Given the description of an element on the screen output the (x, y) to click on. 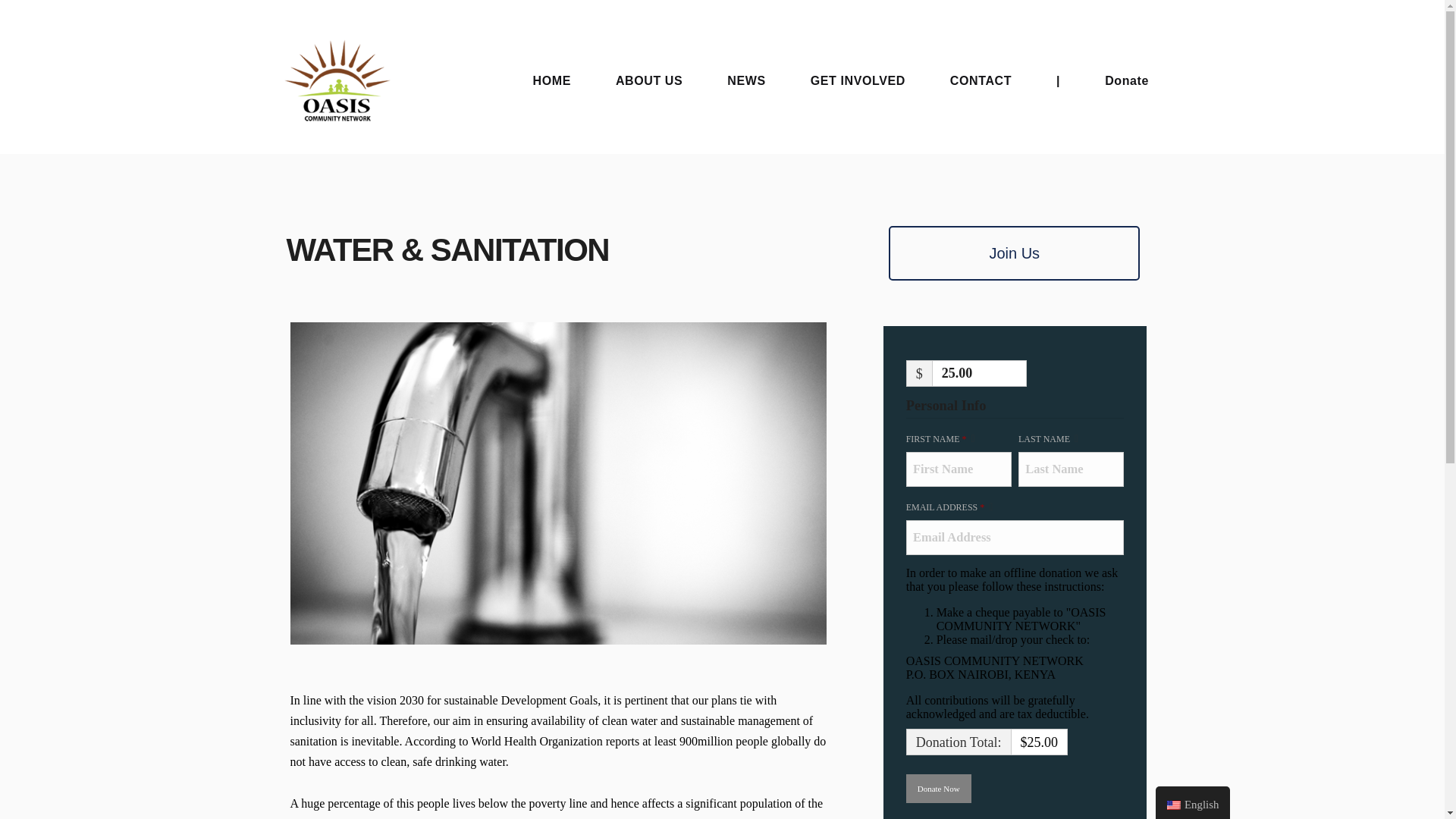
Donate Now (938, 788)
Donate Now (938, 788)
Donate (1126, 80)
English (1173, 804)
GET INVOLVED (857, 80)
English (1193, 802)
HOME (551, 80)
CONTACT (980, 80)
NEWS (745, 80)
25.00 (978, 373)
ABOUT US (648, 80)
Join Us (1014, 253)
